Given the description of an element on the screen output the (x, y) to click on. 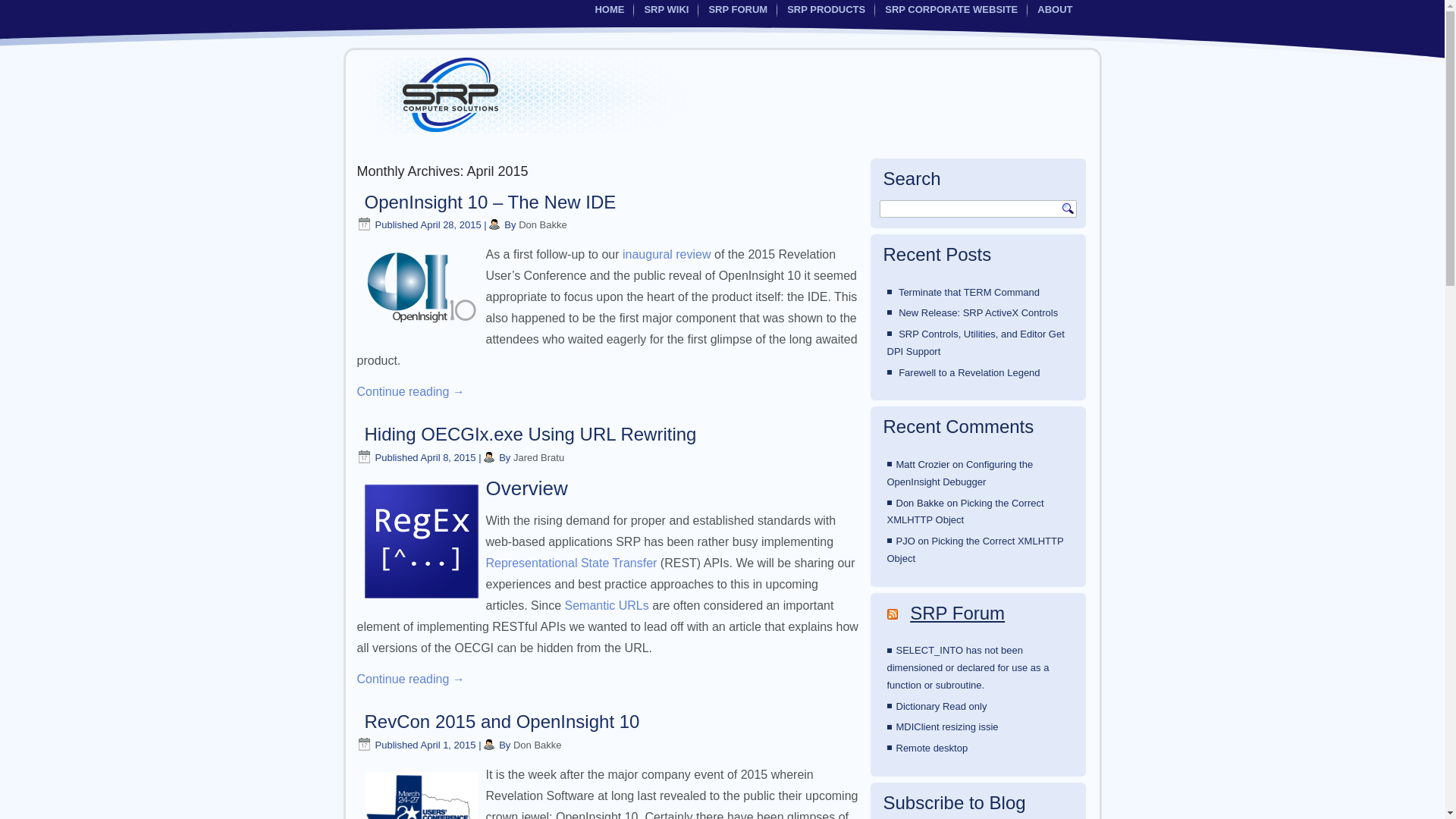
Semantic URLs (606, 604)
SRP FORUM (737, 9)
HOME (609, 9)
Configuring the OpenInsight Debugger (959, 472)
ABOUT (1054, 9)
Farewell to a Revelation Legend (968, 372)
Representational State Transfer (570, 562)
Jared Bratu (538, 457)
MDIClient resizing issie (947, 726)
Hiding OECGIx.exe Using URL Rewriting (529, 434)
About (1054, 9)
RevCon 2015 and OpenInsight 10 (501, 721)
View all posts by Don Bakke (537, 745)
SRP CORPORATE WEBSITE (951, 9)
Don Bakke (542, 224)
